Given the description of an element on the screen output the (x, y) to click on. 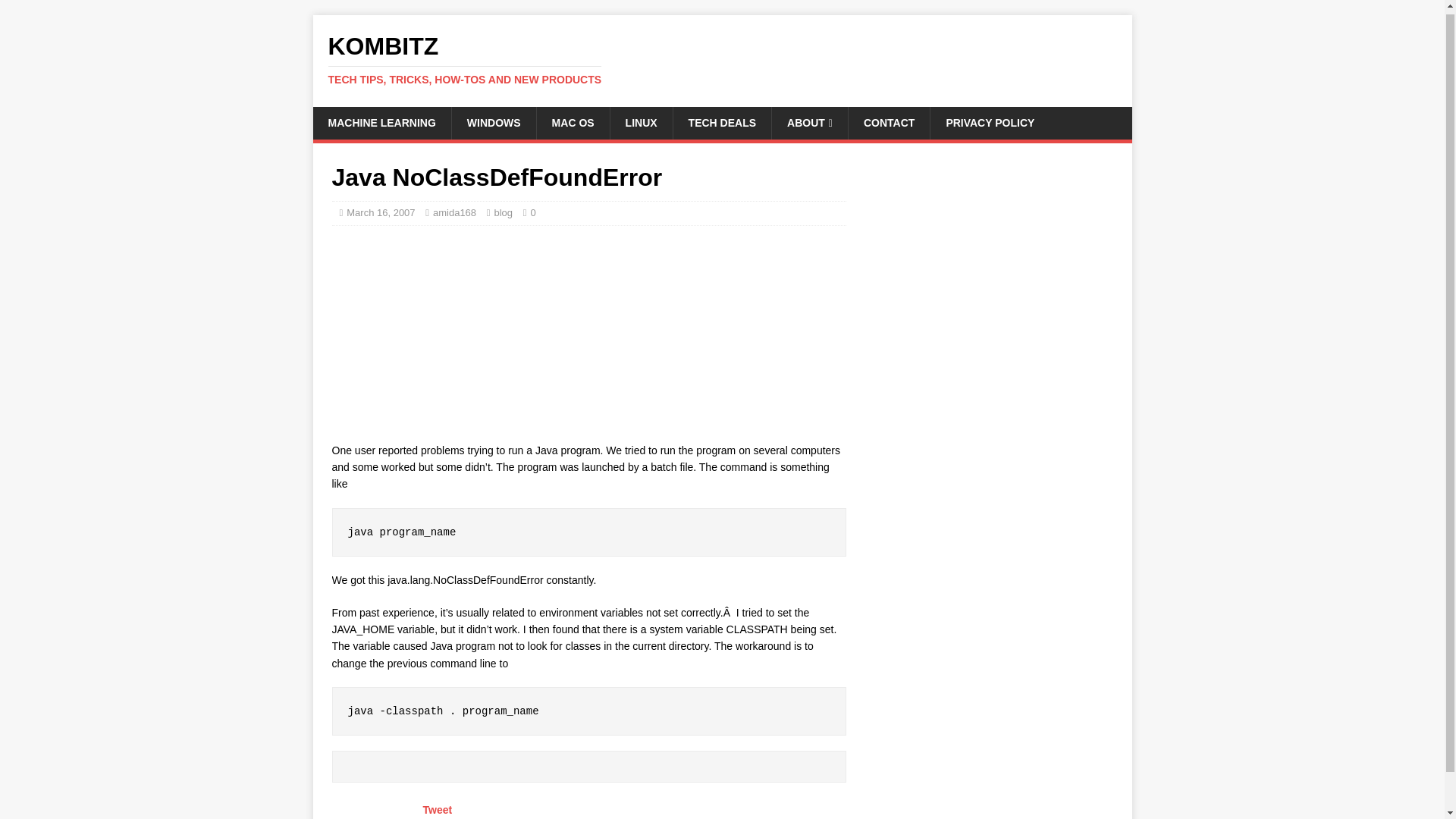
LINUX (641, 122)
blog (502, 212)
TECH DEALS (721, 122)
ABOUT (809, 122)
MACHINE LEARNING (381, 122)
WINDOWS (493, 122)
PRIVACY POLICY (989, 122)
kombitz (721, 59)
March 16, 2007 (721, 59)
